Given the description of an element on the screen output the (x, y) to click on. 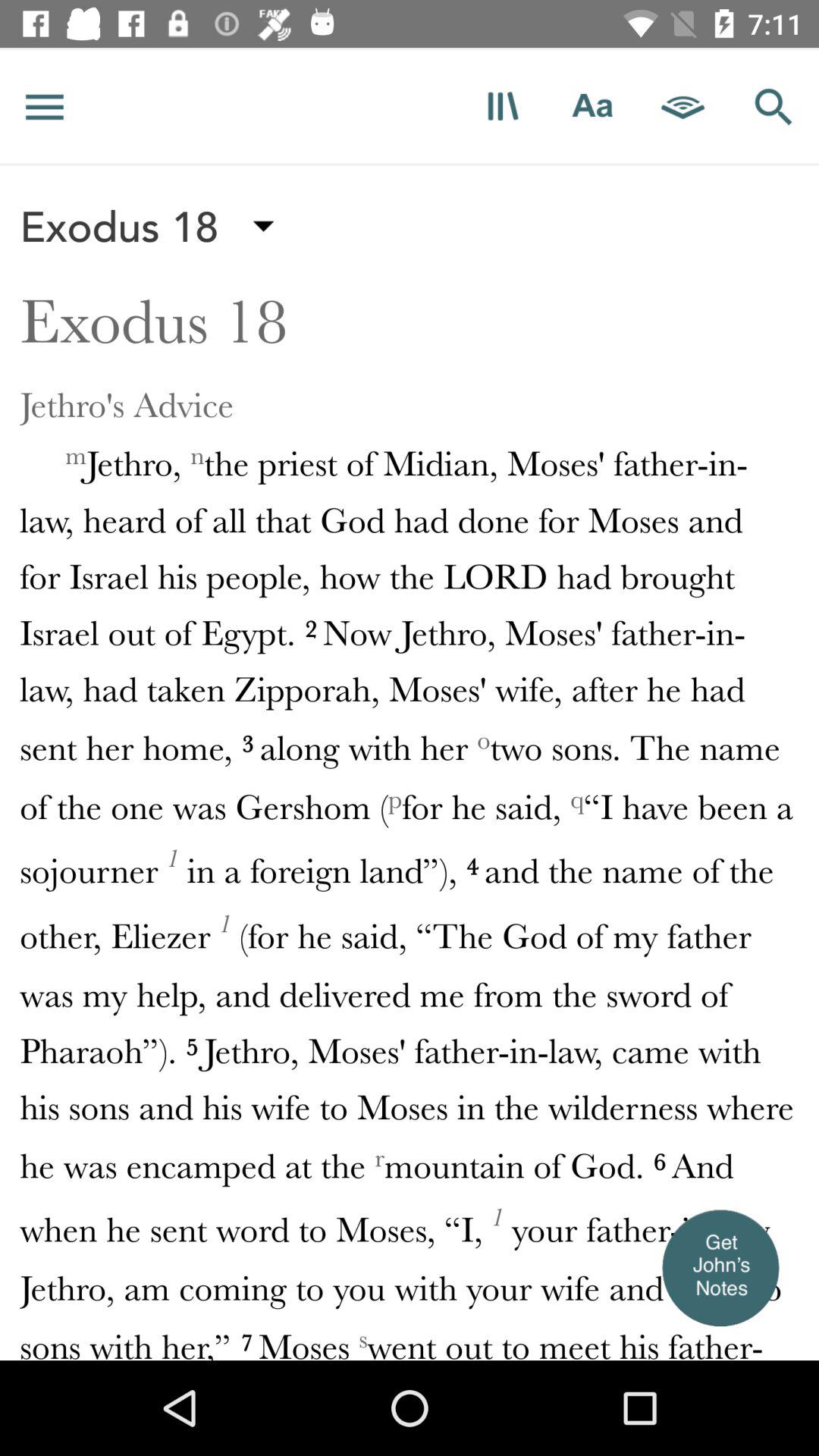
search icon (773, 106)
